Given the description of an element on the screen output the (x, y) to click on. 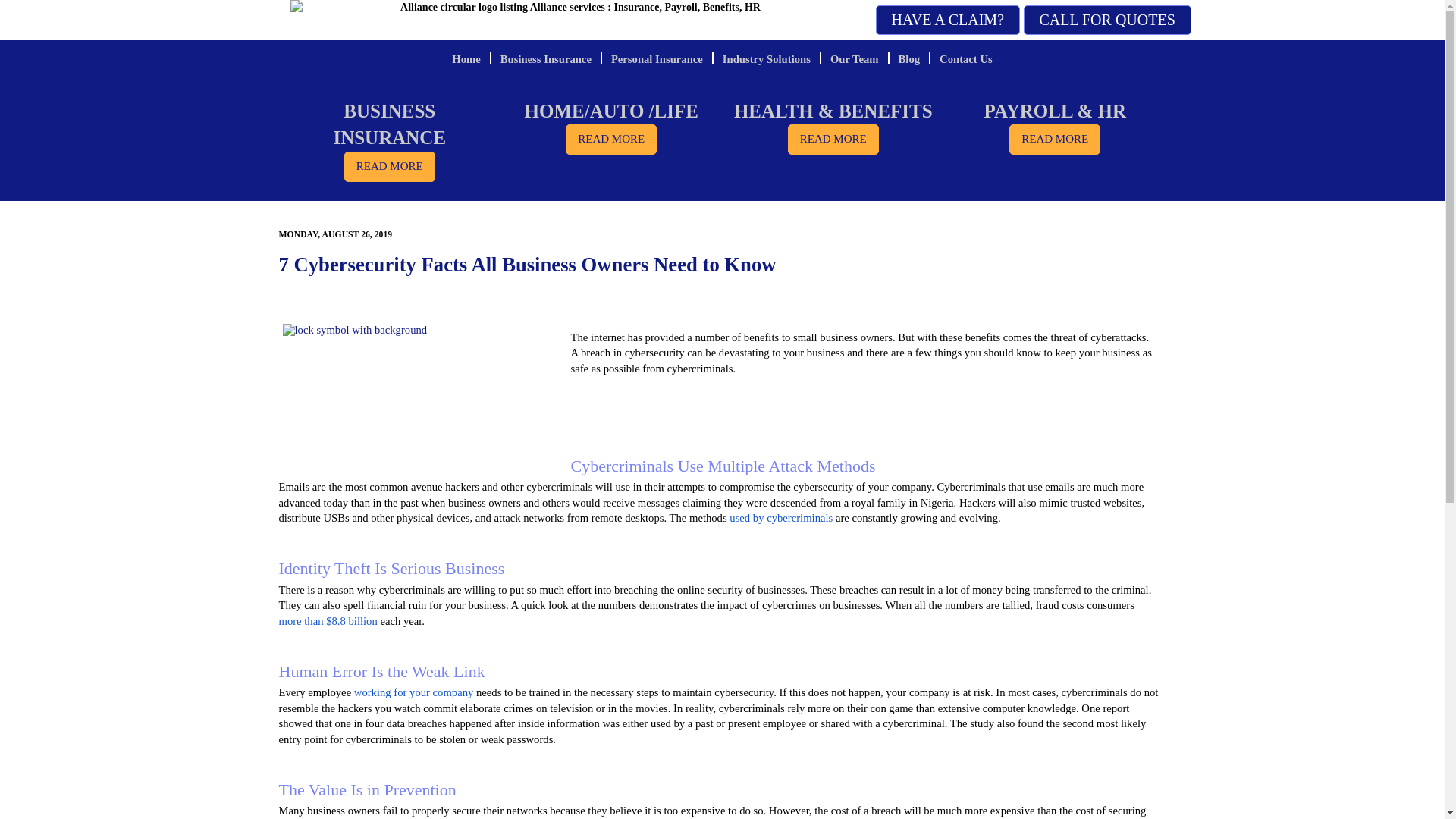
Read More (1054, 139)
Business Insurance (545, 59)
Have a Claim? (947, 19)
Read More (833, 139)
Call for Quotes (1107, 19)
Personal Insurance (656, 59)
Read More (389, 166)
Home (465, 59)
Read More (611, 139)
Industry Solutions (766, 59)
